Given the description of an element on the screen output the (x, y) to click on. 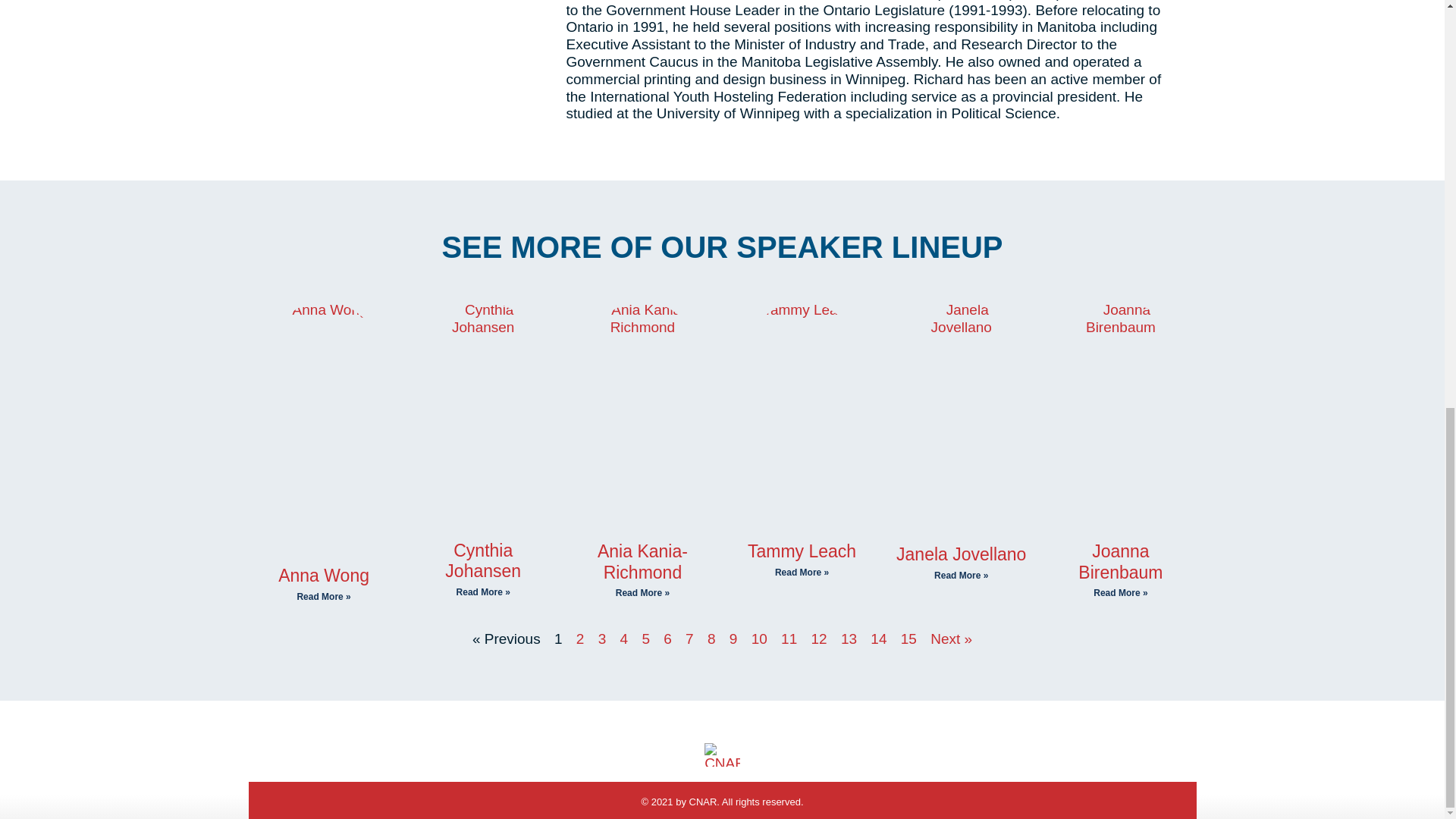
13 (849, 638)
14 (878, 638)
12 (818, 638)
15 (909, 638)
Cynthia Johansen (483, 560)
Tammy Leach (802, 551)
11 (788, 638)
Janela Jovellano (961, 554)
Anna Wong (323, 575)
10 (759, 638)
Ania Kania-Richmond (641, 561)
Joanna Birenbaum (1119, 561)
